Given the description of an element on the screen output the (x, y) to click on. 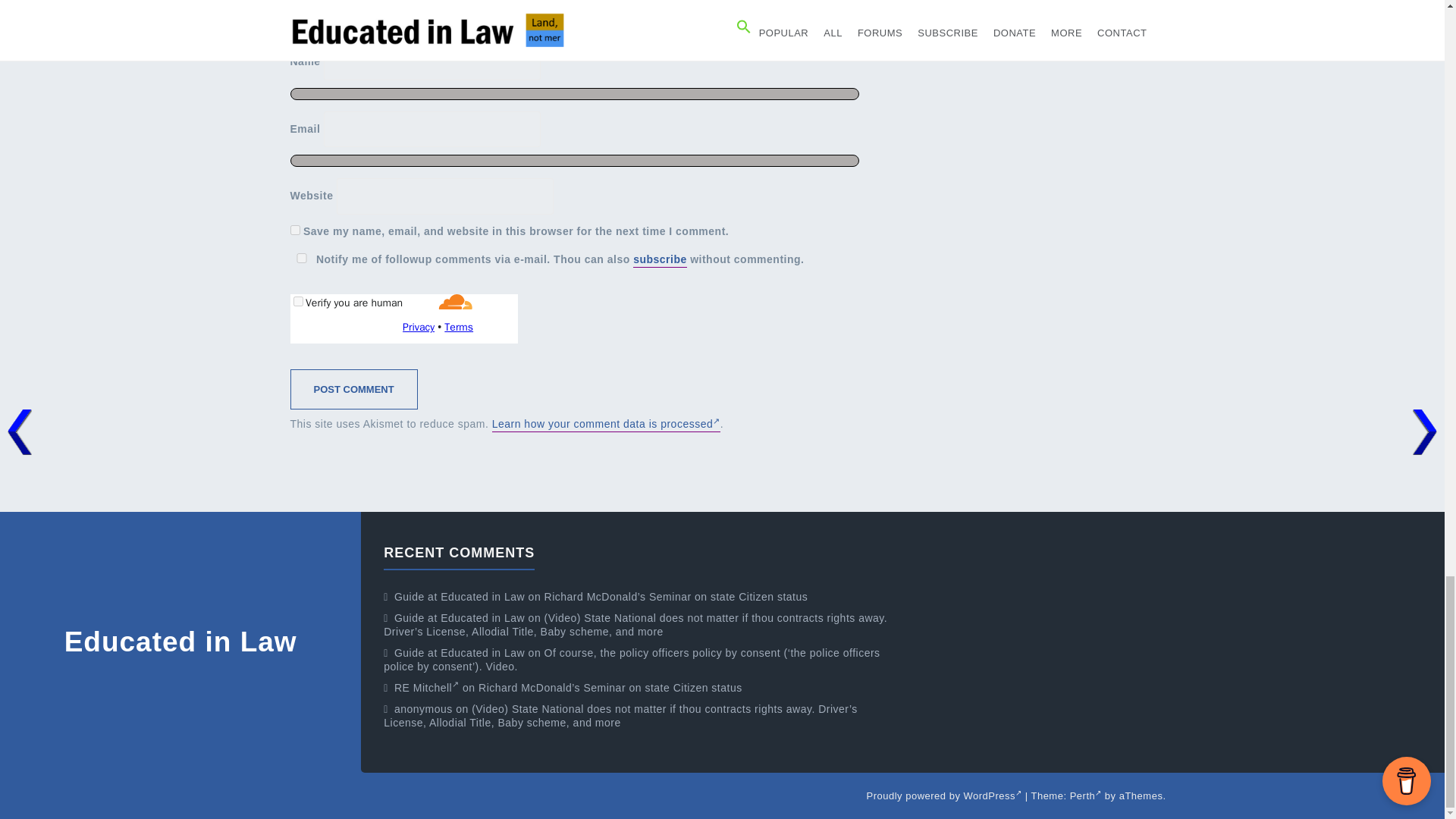
yes (301, 257)
Post Comment (352, 389)
yes (294, 230)
